Given the description of an element on the screen output the (x, y) to click on. 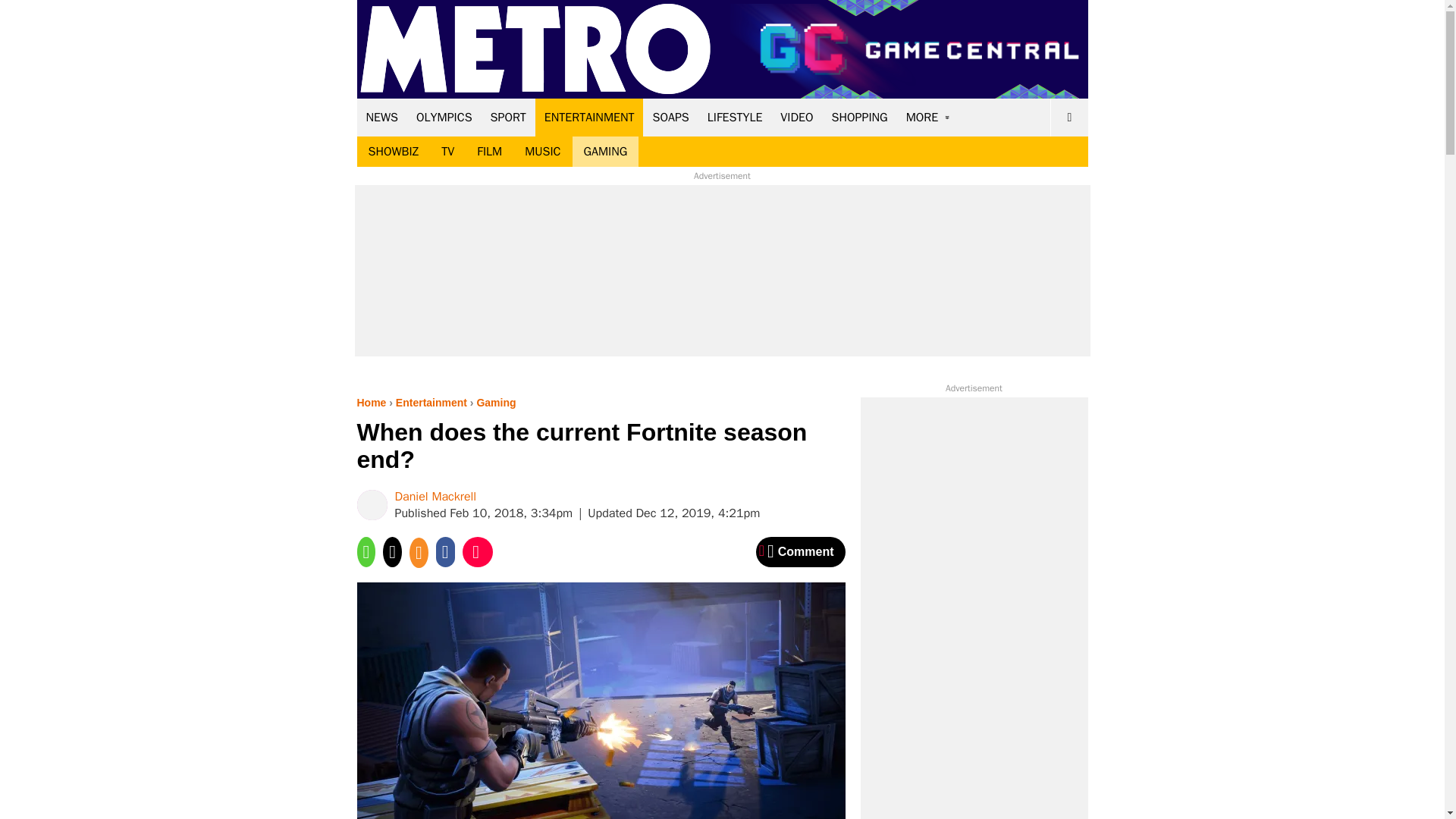
ENTERTAINMENT (589, 117)
SPORT (508, 117)
SOAPS (670, 117)
SHOWBIZ (392, 151)
FILM (489, 151)
TV (447, 151)
GAMING (605, 151)
OLYMPICS (444, 117)
LIFESTYLE (734, 117)
NEWS (381, 117)
